Given the description of an element on the screen output the (x, y) to click on. 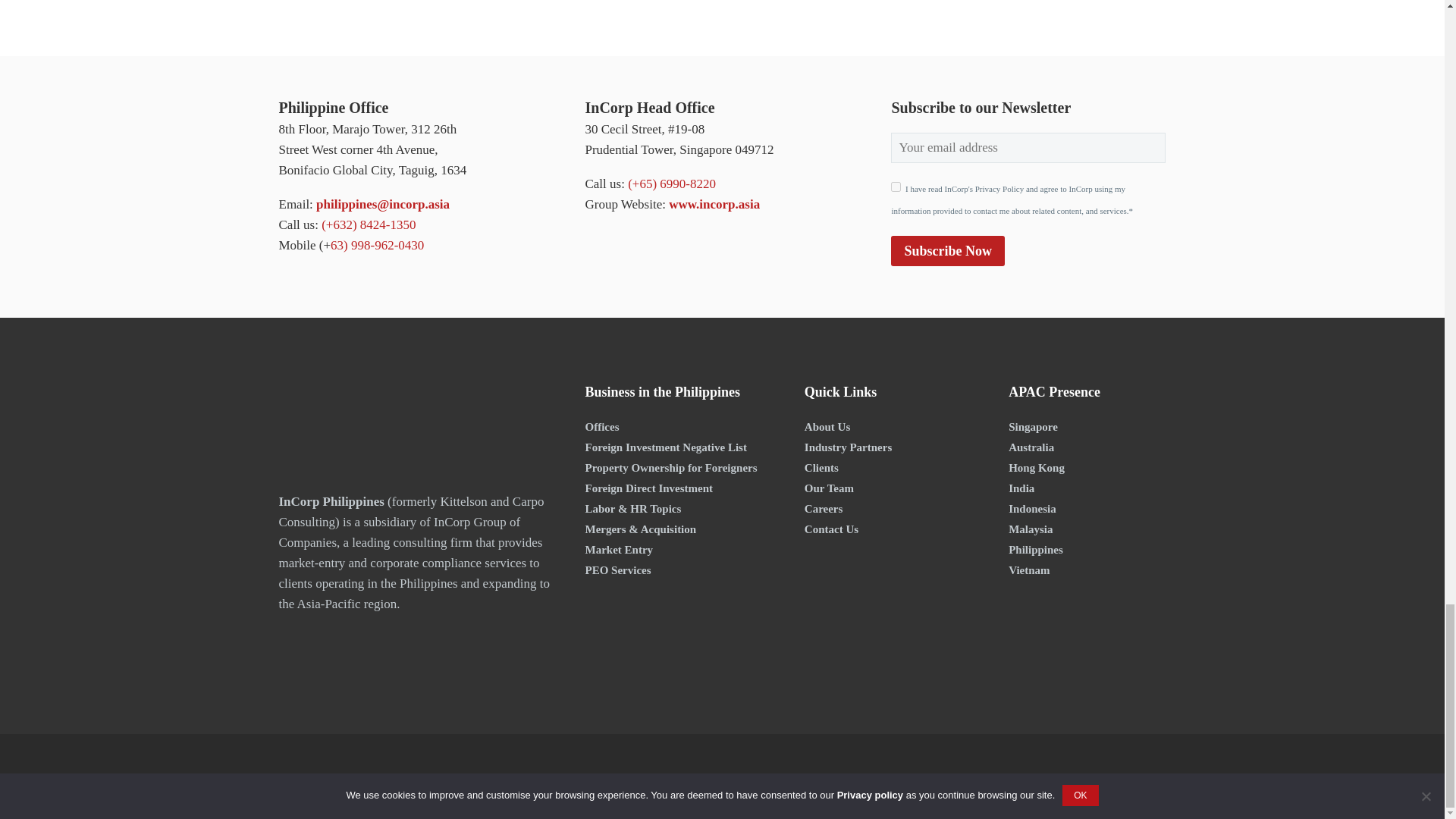
Office Space (601, 426)
InCorp Global website (714, 204)
About Us (827, 426)
Subscribe Now (947, 250)
Property Ownership for Foreigners (671, 467)
Foreign Investment Negative List (665, 447)
PEO Services (617, 570)
Market Entry (618, 549)
1 (896, 186)
Foreign Direct Investment (649, 488)
